Given the description of an element on the screen output the (x, y) to click on. 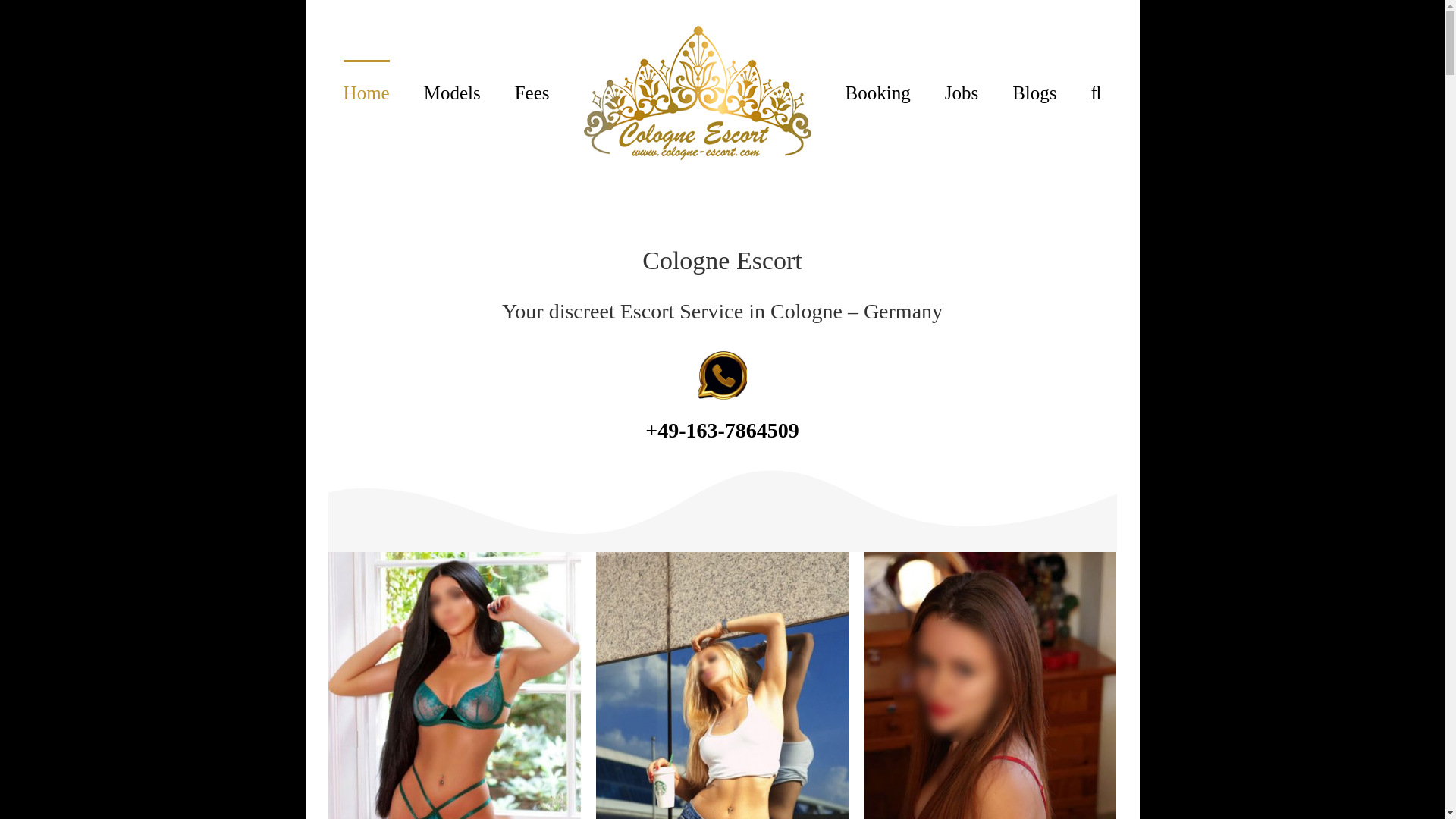
Fees (532, 91)
Home (366, 91)
Booking (878, 91)
Jobs (961, 91)
Blogs (1034, 91)
Models (451, 91)
Search (1095, 91)
